Given the description of an element on the screen output the (x, y) to click on. 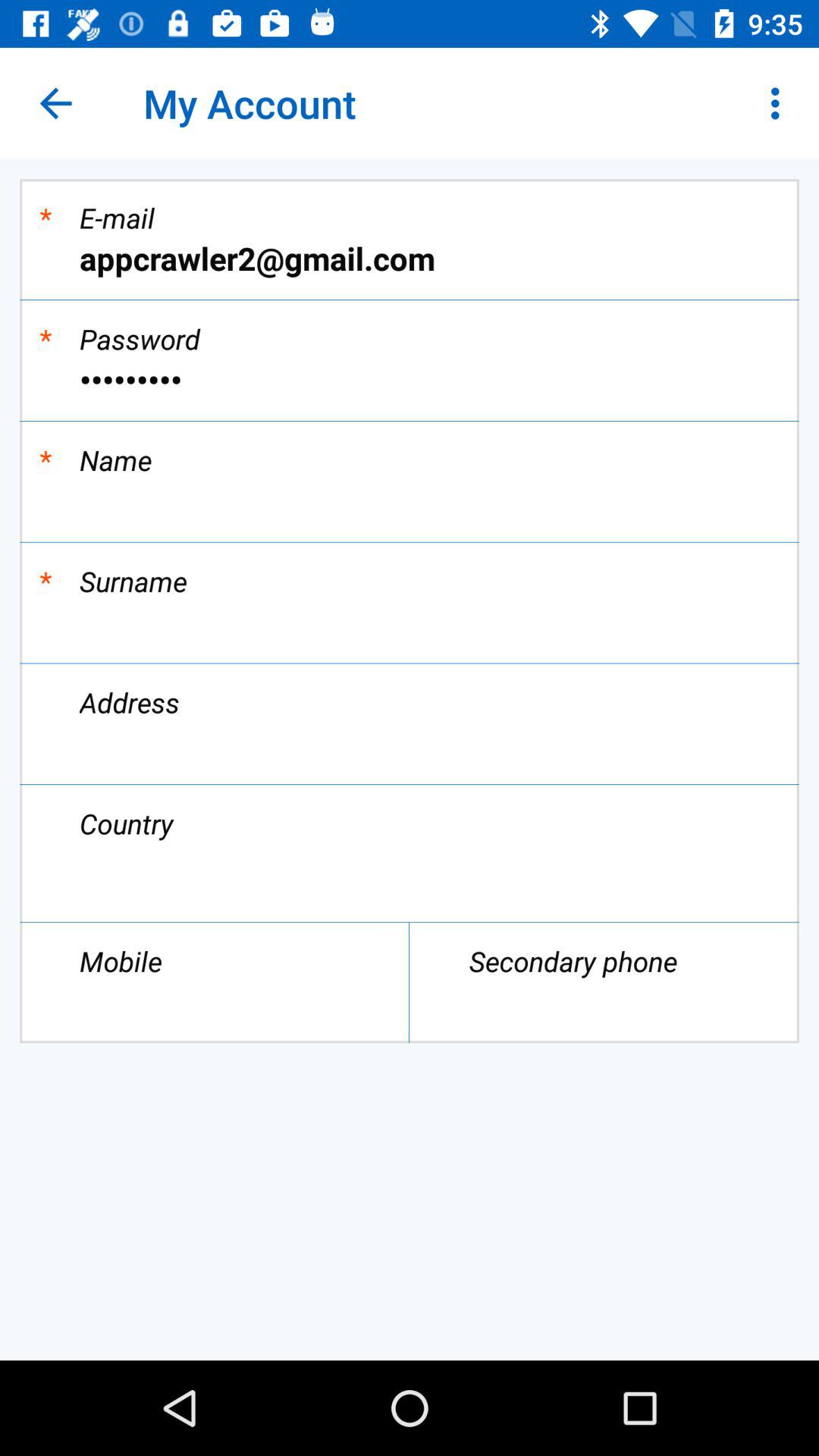
launch the crowd3116 (409, 378)
